Given the description of an element on the screen output the (x, y) to click on. 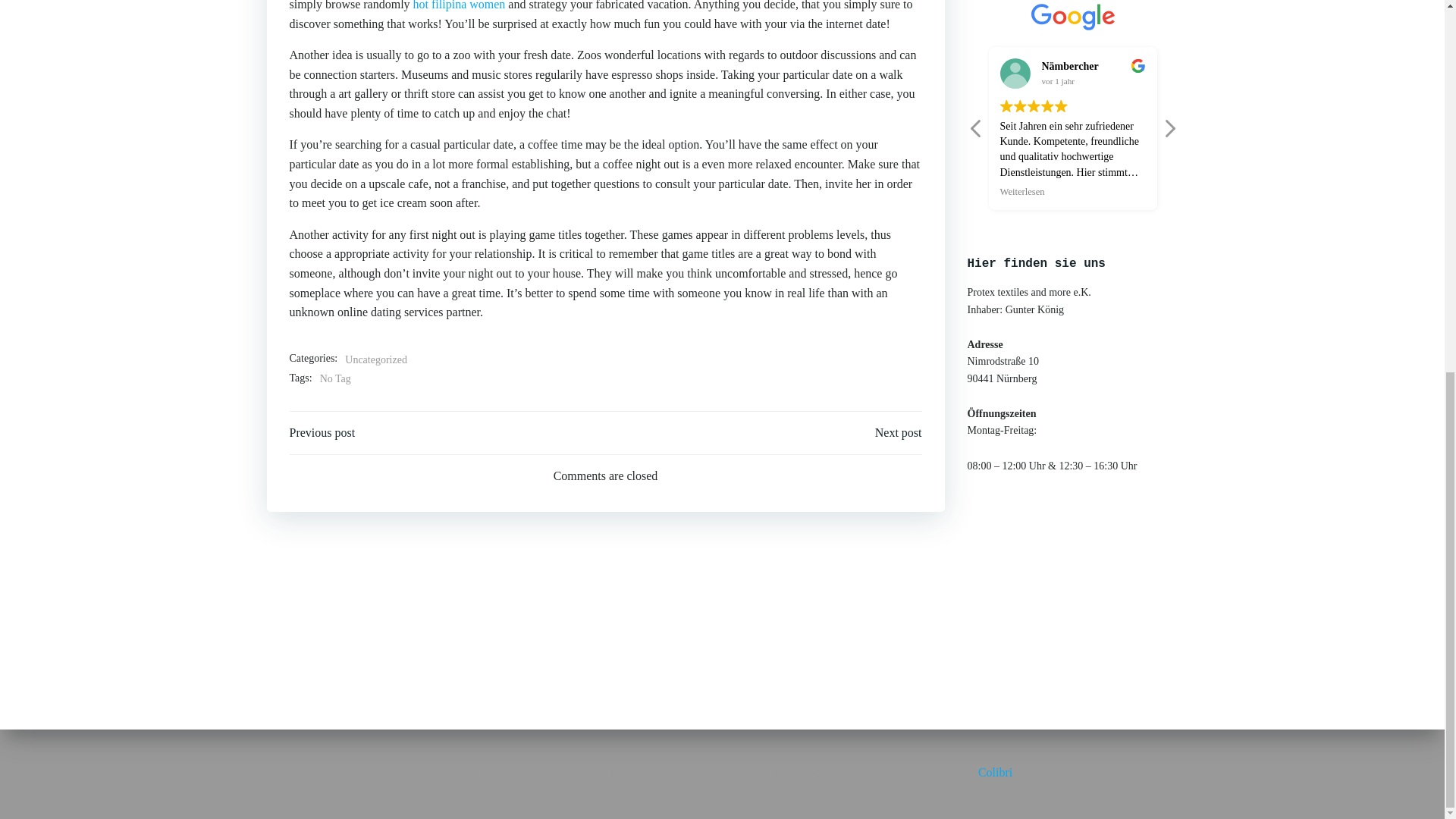
hot filipina women (459, 5)
Next post (898, 433)
Colibri (994, 93)
Uncategorized (376, 360)
Previous post (322, 433)
